Given the description of an element on the screen output the (x, y) to click on. 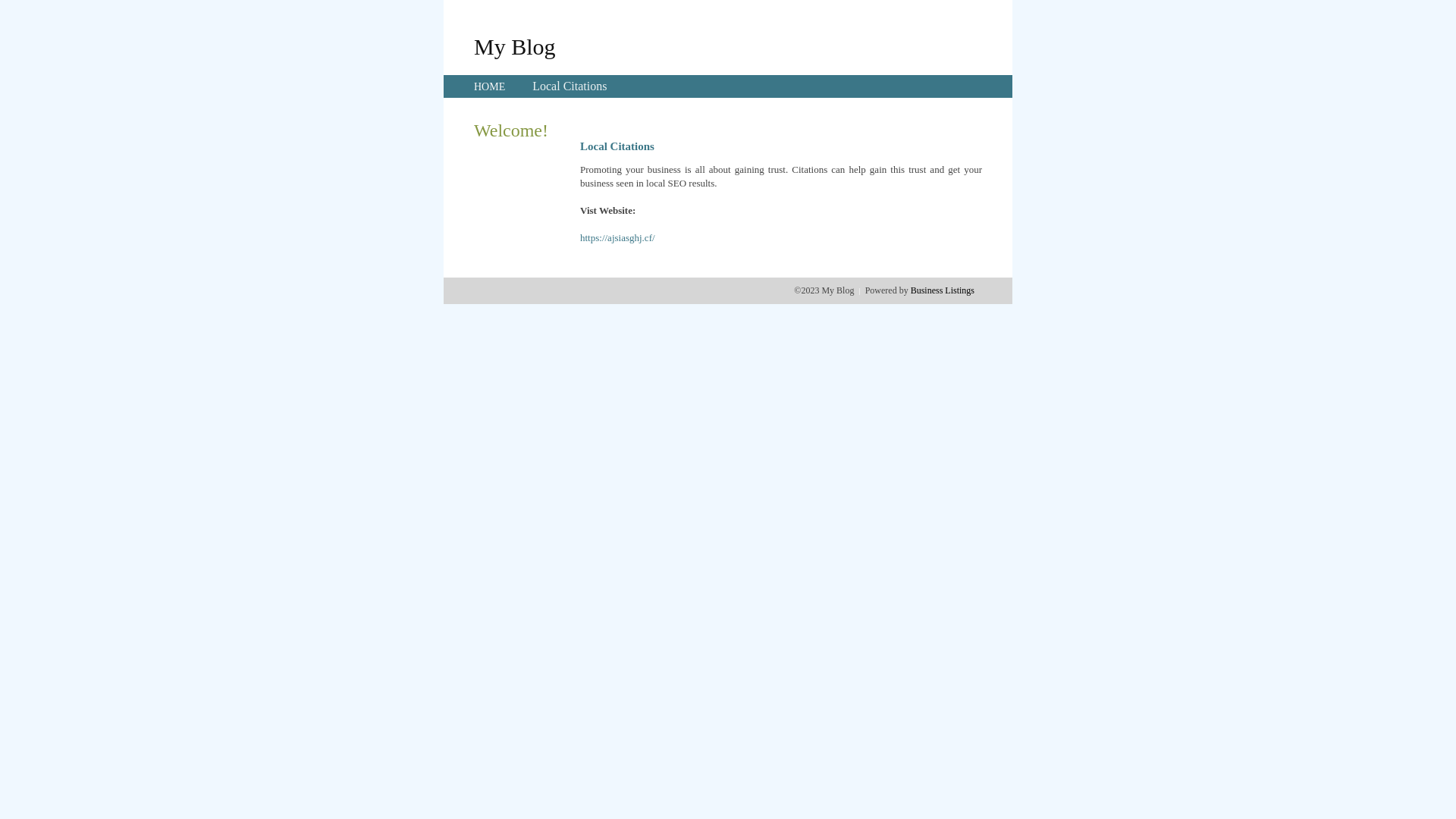
HOME Element type: text (489, 86)
Business Listings Element type: text (942, 290)
https://ajsiasghj.cf/ Element type: text (617, 237)
My Blog Element type: text (514, 46)
Local Citations Element type: text (569, 85)
